Given the description of an element on the screen output the (x, y) to click on. 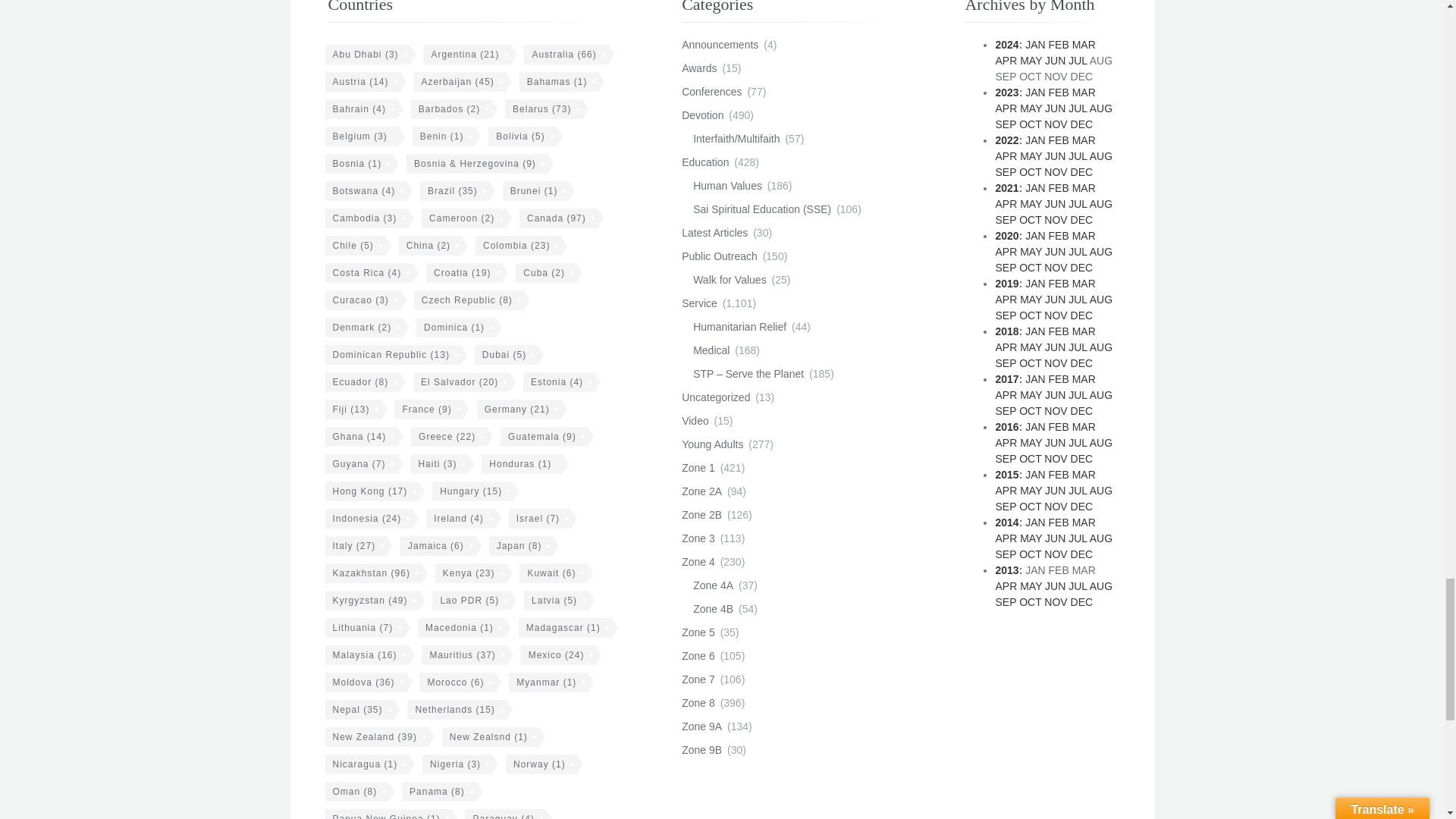
Awards given to the Sai Organisation (698, 68)
Newly added reports. (714, 232)
Articles about community service (699, 303)
